Given the description of an element on the screen output the (x, y) to click on. 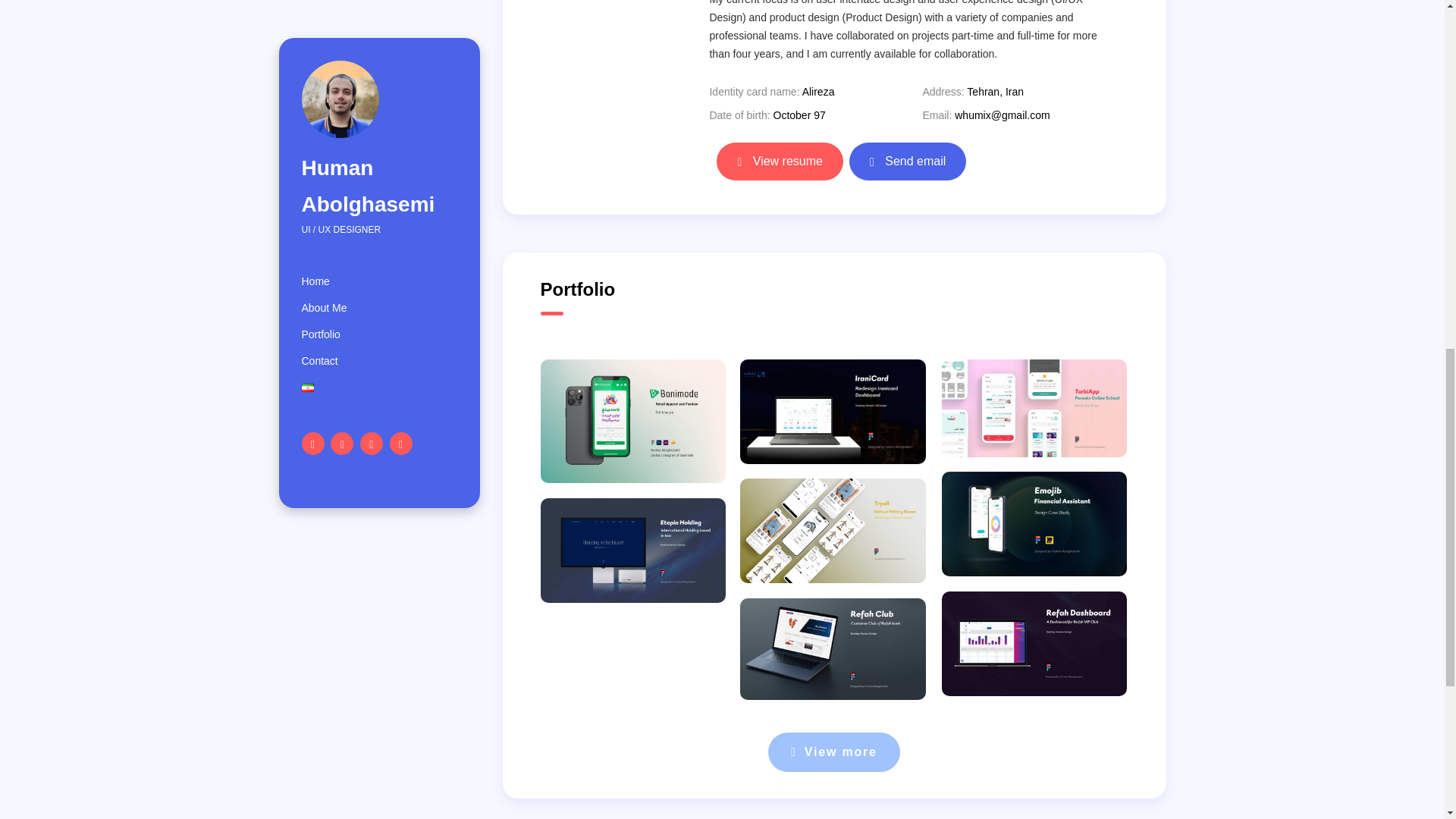
Send email (907, 161)
View resume (779, 161)
View more (833, 752)
